Given the description of an element on the screen output the (x, y) to click on. 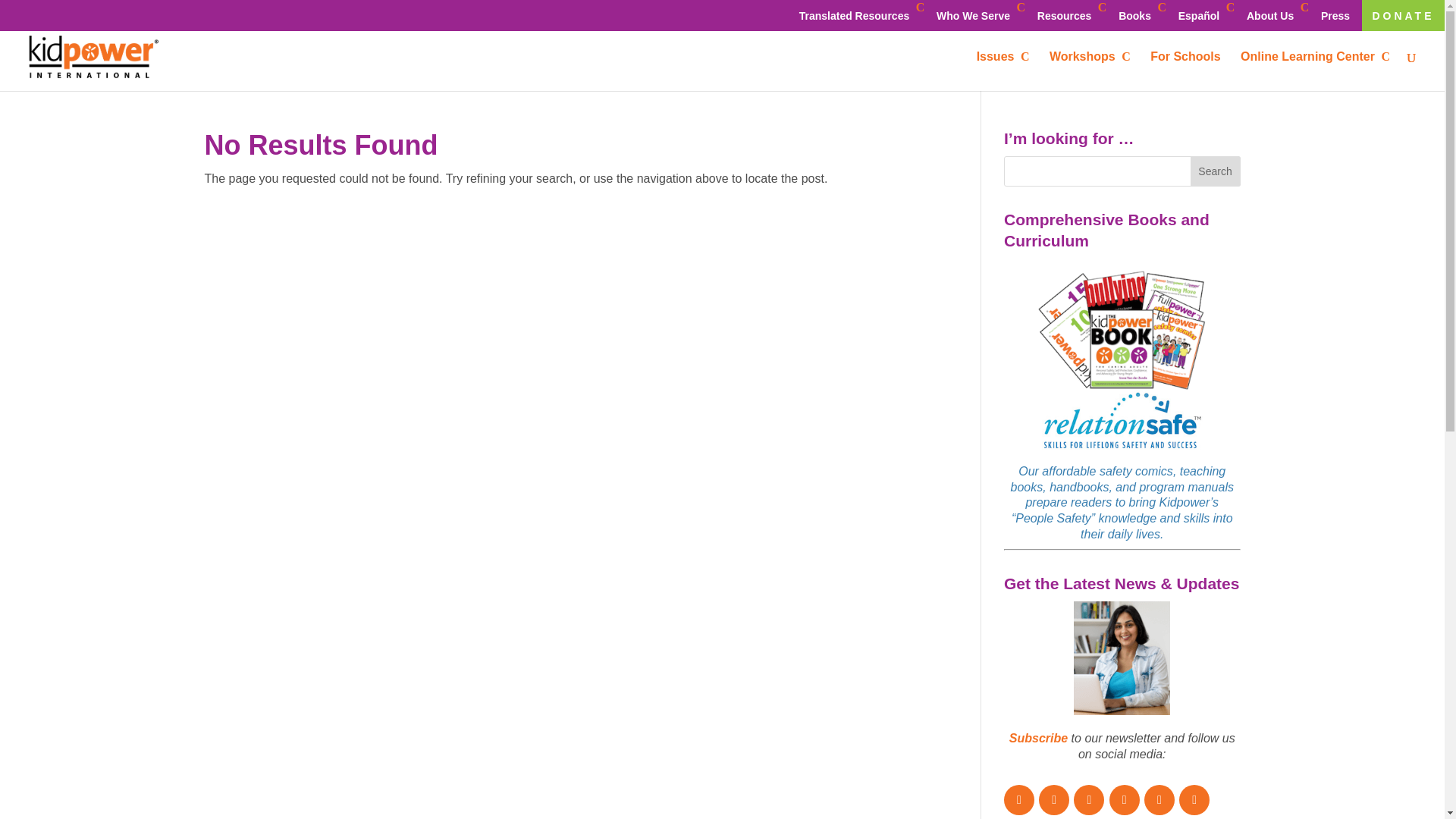
Search (1215, 171)
Who We Serve (976, 15)
Resources (1067, 15)
Books (1138, 15)
Translated Resources (857, 15)
